Given the description of an element on the screen output the (x, y) to click on. 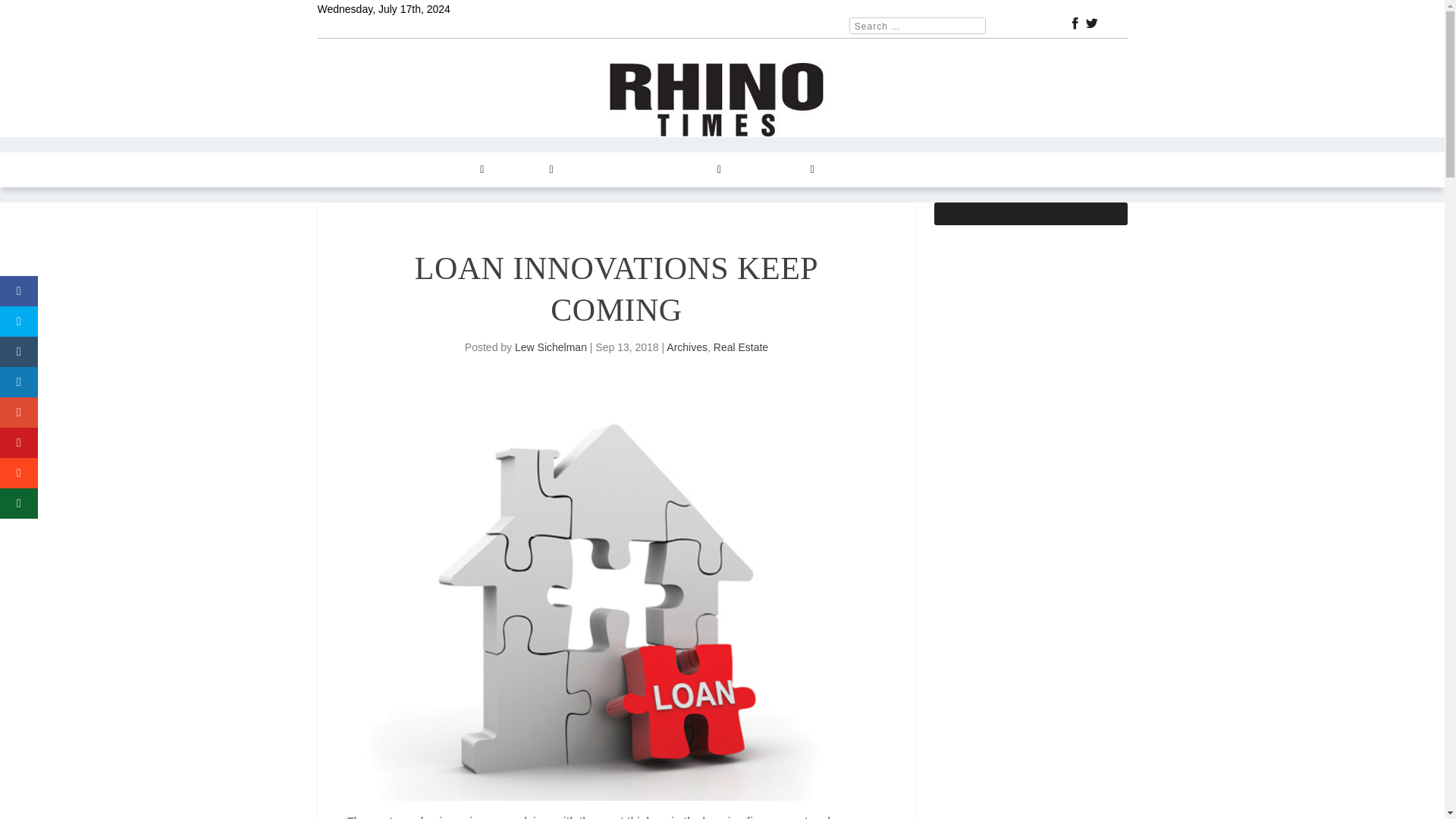
ARCHIVES (689, 169)
ABOUT US (858, 169)
HOME (342, 169)
REAL ESTATE (606, 169)
COLUMNS (453, 169)
Posts by Lew Sichelman (550, 346)
CONTACT US (775, 169)
OBITUARIES (935, 169)
OPINION (526, 169)
Search (31, 13)
NEWS (390, 169)
